Given the description of an element on the screen output the (x, y) to click on. 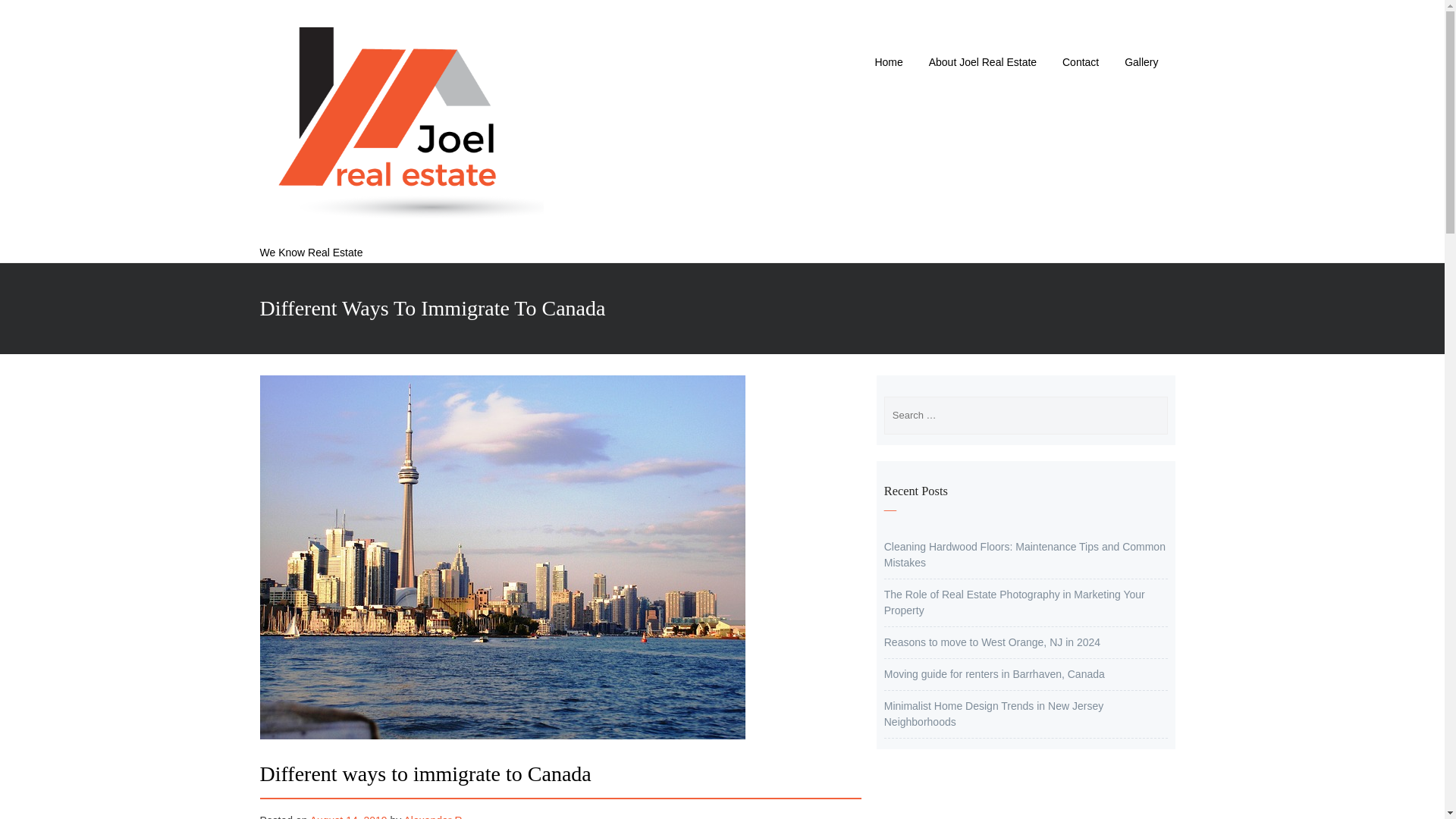
Gallery (1141, 66)
Search (671, 18)
Contact (1080, 66)
August 14, 2019 (348, 816)
Alexander R. (433, 816)
Moving guide for renters in Barrhaven, Canada (994, 674)
Minimalist Home Design Trends in New Jersey Neighborhoods (993, 714)
Home (888, 66)
